Given the description of an element on the screen output the (x, y) to click on. 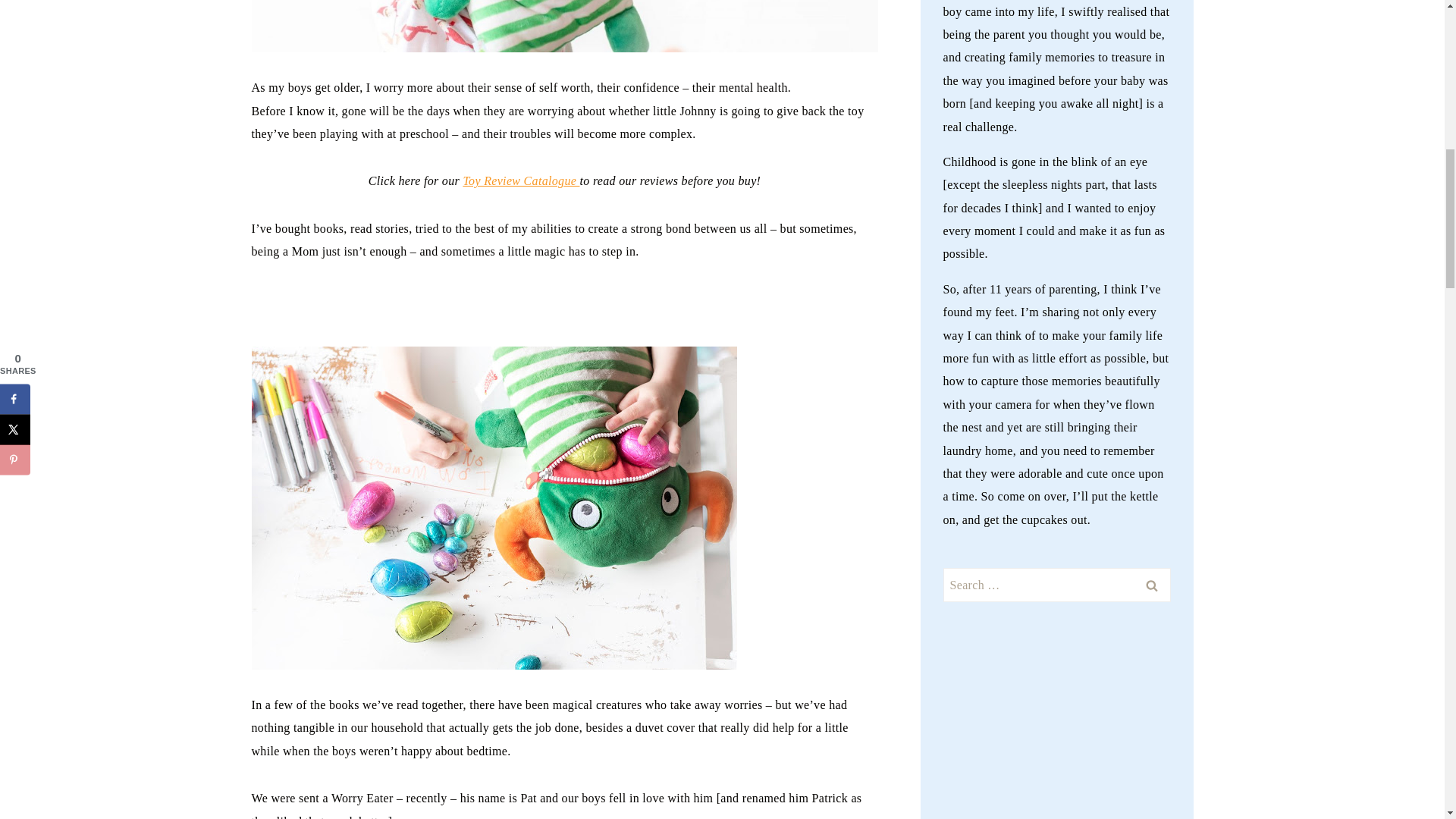
Toy Review Catalogue (521, 180)
Search (1151, 584)
Search (1151, 584)
